Given the description of an element on the screen output the (x, y) to click on. 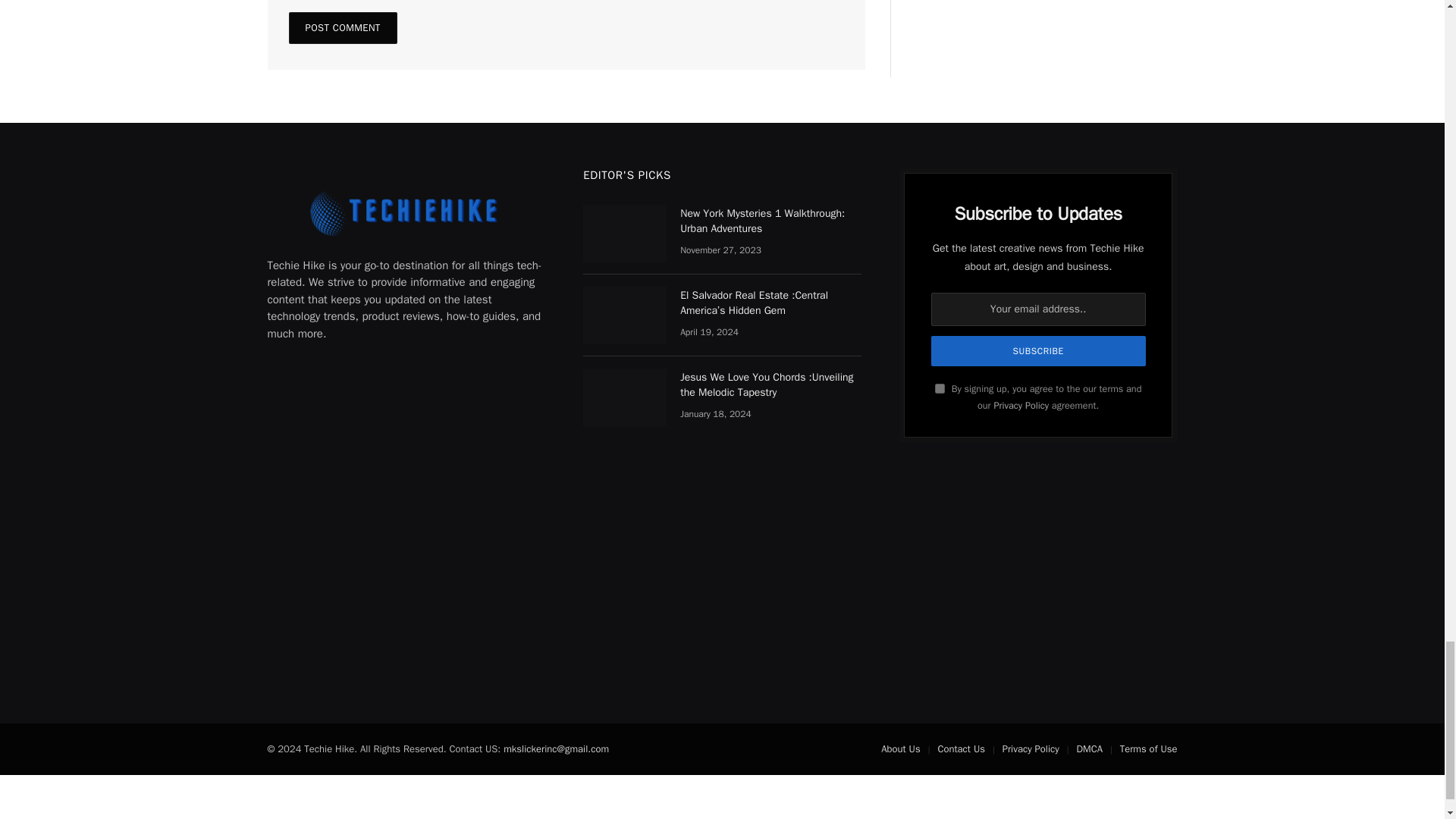
Subscribe (1038, 350)
Post Comment (342, 28)
Post Comment (342, 28)
on (939, 388)
